Given the description of an element on the screen output the (x, y) to click on. 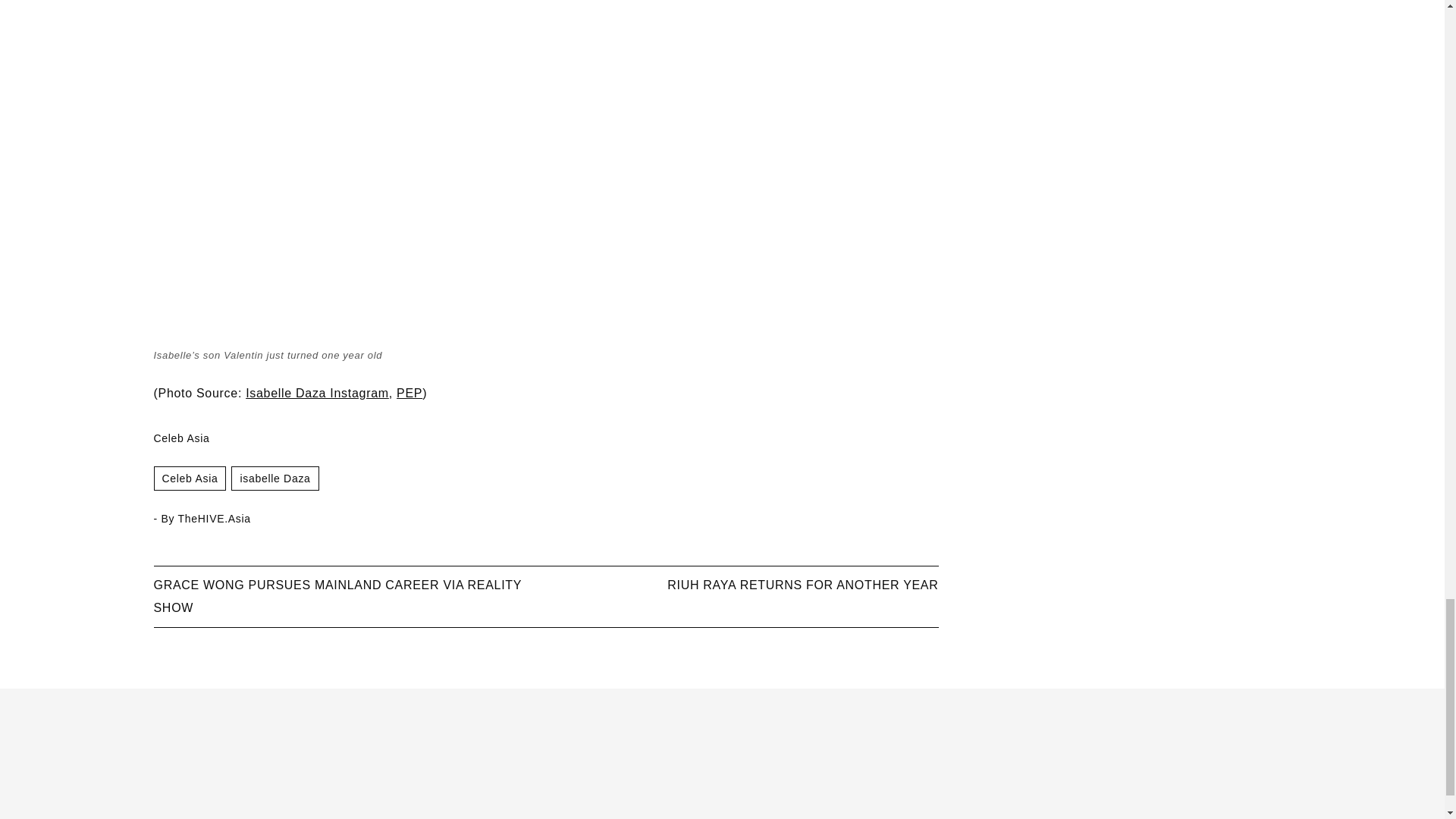
GRACE WONG PURSUES MAINLAND CAREER VIA REALITY SHOW (336, 596)
PEP (409, 392)
TheHIVE.Asia (213, 518)
Celeb Asia (188, 478)
Isabelle Daza (274, 478)
Celeb Asia (180, 438)
RIUH RAYA RETURNS FOR ANOTHER YEAR (801, 584)
Isabelle Daza Instagram (317, 392)
